Given the description of an element on the screen output the (x, y) to click on. 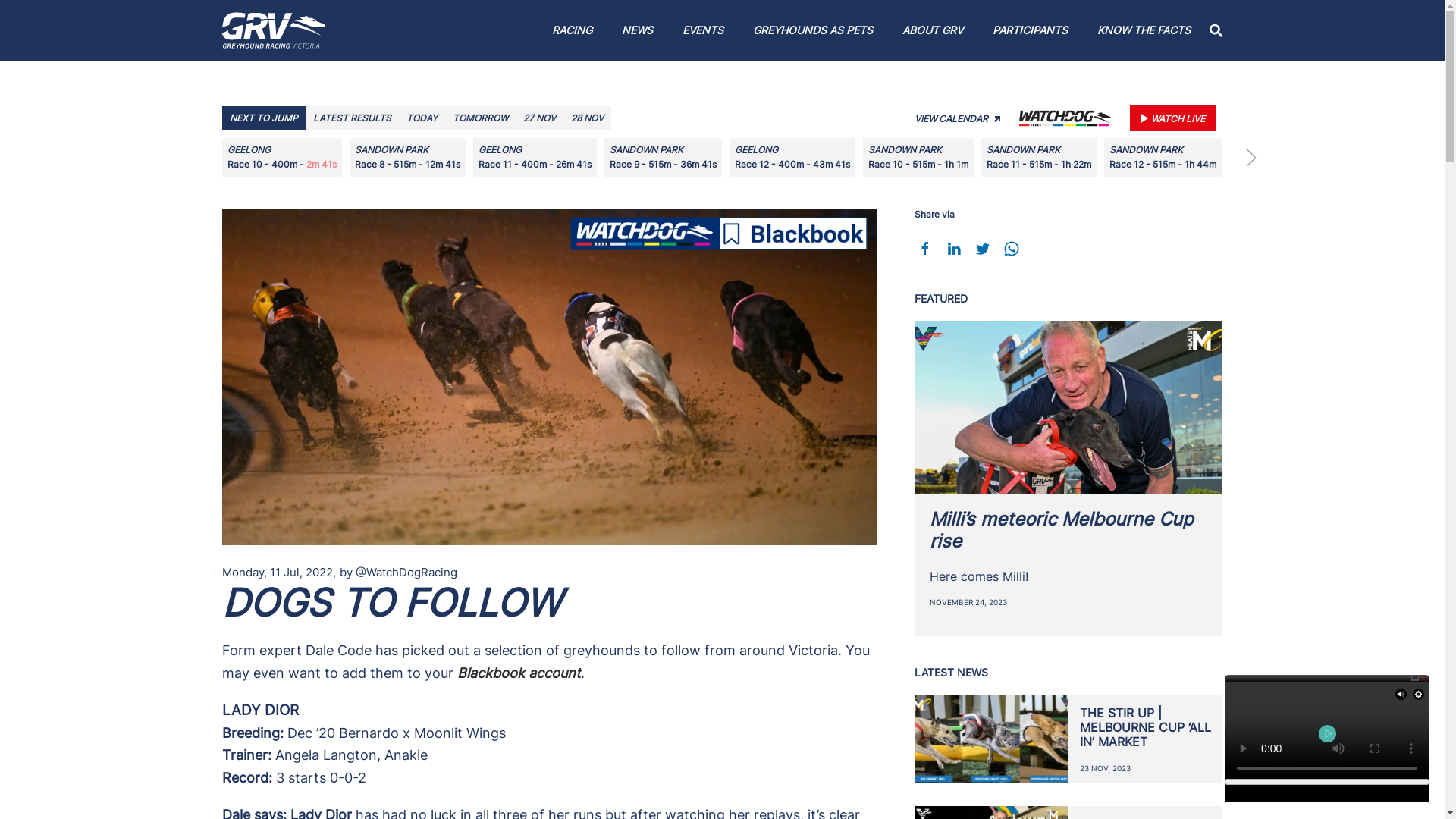
GREYHOUNDS AS PETS Element type: text (812, 30)
TODAY Element type: text (421, 118)
27 NOV Element type: text (539, 118)
SANDOWN PARK
Race 9 - 515m - 36m 43s Element type: text (667, 157)
KNOW THE FACTS Element type: text (1143, 30)
PARTICIPANTS Element type: text (1029, 30)
EVENTS Element type: text (702, 30)
NEXT TO JUMP Element type: text (262, 118)
VIEW CALENDAR Element type: text (957, 118)
SANDOWN PARK
Race 12 - 515m - 1h 44m Element type: text (1170, 157)
SANDOWN PARK
Race 11 - 515m - 1h 22m Element type: text (1046, 157)
GEELONG
Race 10 - 400m - 2m 43s Element type: text (281, 157)
WATCH LIVE Element type: text (1172, 118)
NEWS Element type: text (637, 30)
Blackbook account Element type: text (518, 672)
GEELONG
Race 12 - 400m - 43m 43s Element type: text (798, 157)
SANDOWN PARK
Race 10 - 515m - 1h 1m Element type: text (925, 157)
ABOUT GRV Element type: text (932, 30)
LADY DIOR Element type: text (259, 710)
28 NOV Element type: text (586, 118)
TOMORROW Element type: text (479, 118)
LATEST RESULTS Element type: text (351, 118)
GEELONG
Race 11 - 400m - 26m 43s Element type: text (538, 157)
SANDOWN PARK
Race 8 - 515m - 12m 43s Element type: text (408, 157)
RACING Element type: text (572, 30)
